Given the description of an element on the screen output the (x, y) to click on. 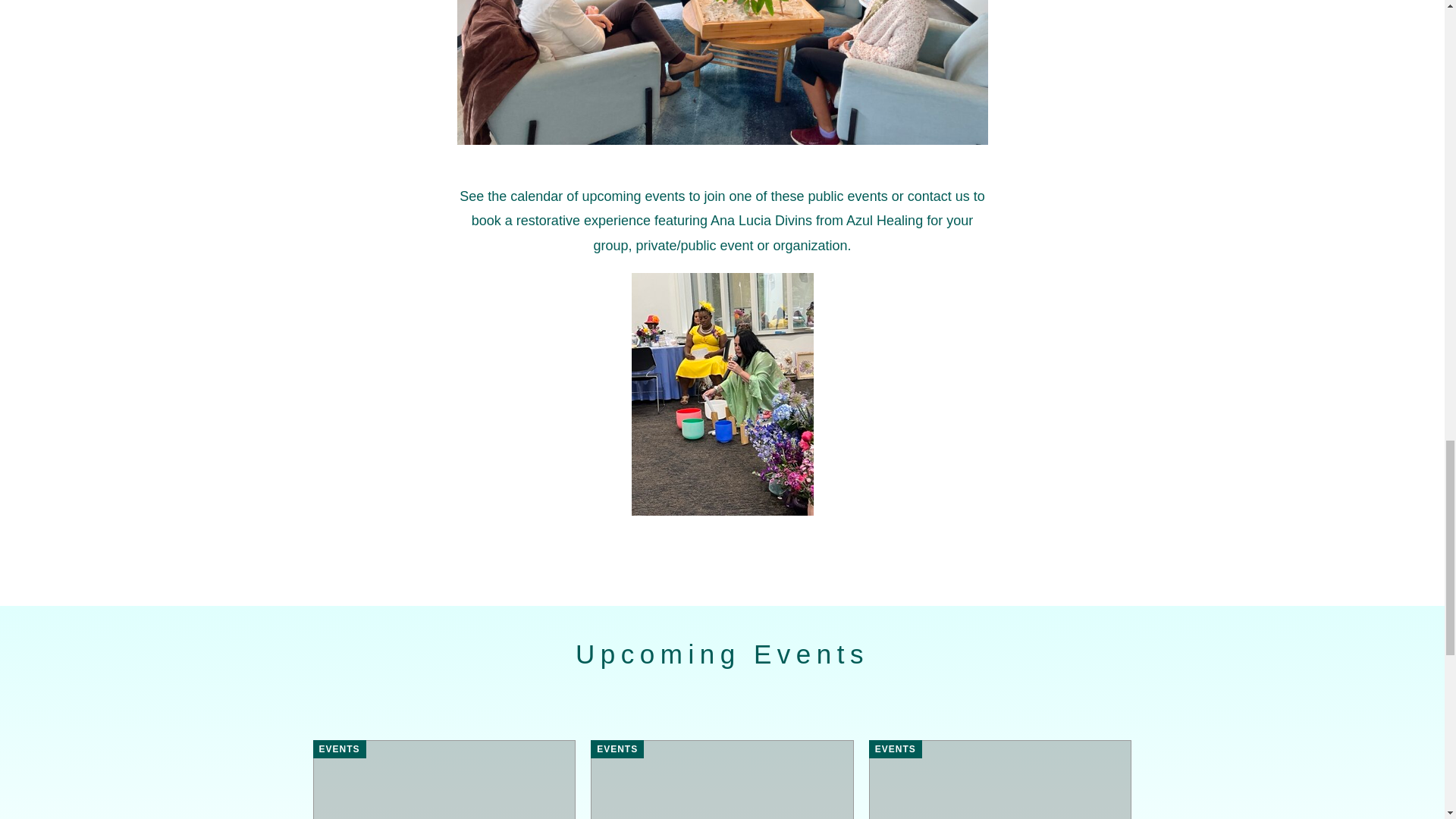
EVENTS (339, 749)
ABOUT (938, 196)
contact us (938, 196)
EVENTS (617, 749)
EVENTS (895, 749)
